Given the description of an element on the screen output the (x, y) to click on. 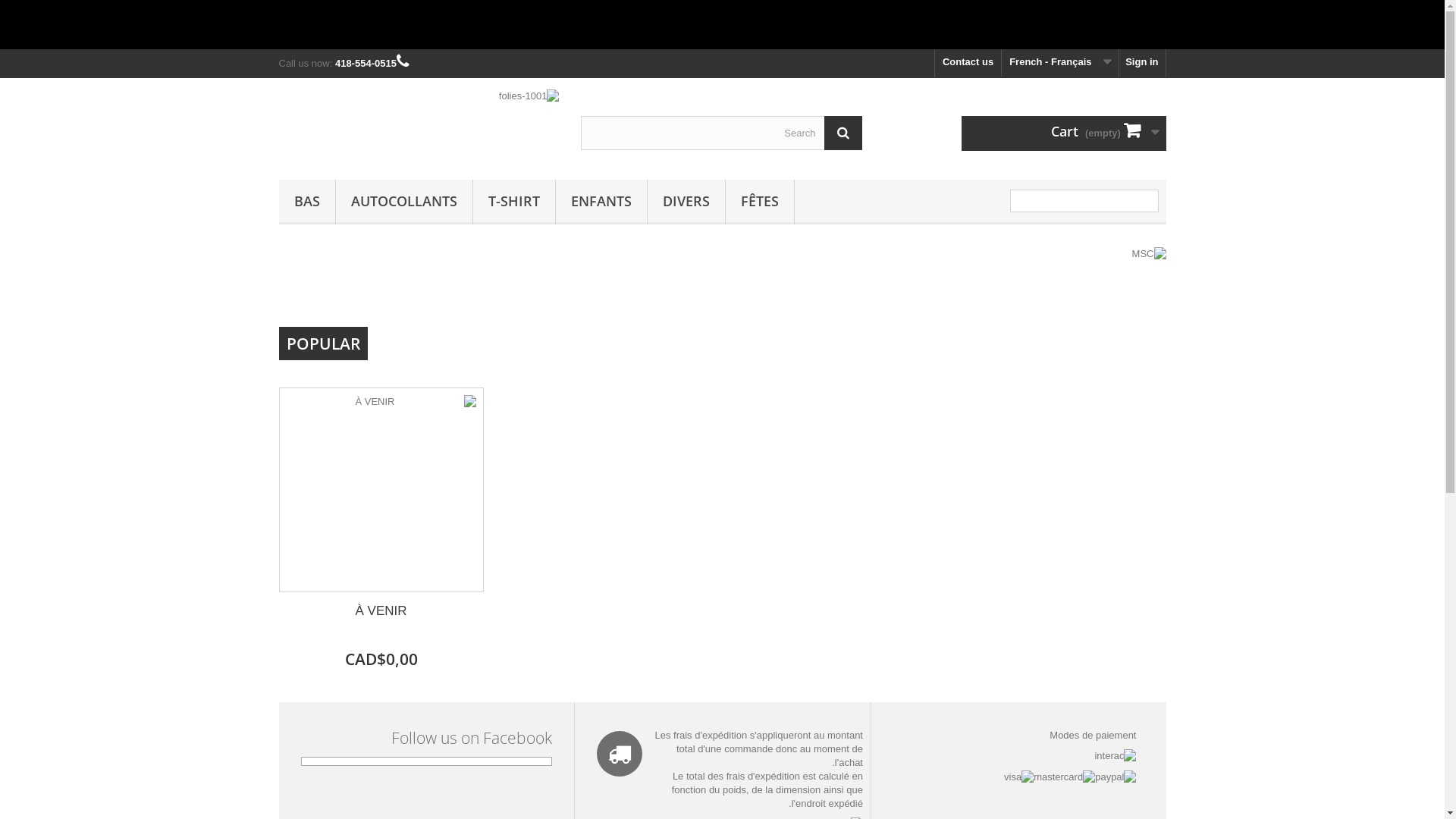
Next Element type: text (1138, 287)
MSC Element type: hover (869, 281)
1001-folies Element type: hover (419, 124)
Sign in Element type: text (1141, 63)
Contact us Element type: text (968, 63)
AUTOCOLLANTS Element type: text (403, 201)
T-SHIRT Element type: text (514, 201)
Cart (empty) Element type: text (1063, 133)
ENFANTS Element type: text (600, 201)
POPULAR Element type: text (323, 343)
BAS Element type: text (307, 201)
DIVERS Element type: text (685, 201)
Prev Element type: text (1100, 287)
